Given the description of an element on the screen output the (x, y) to click on. 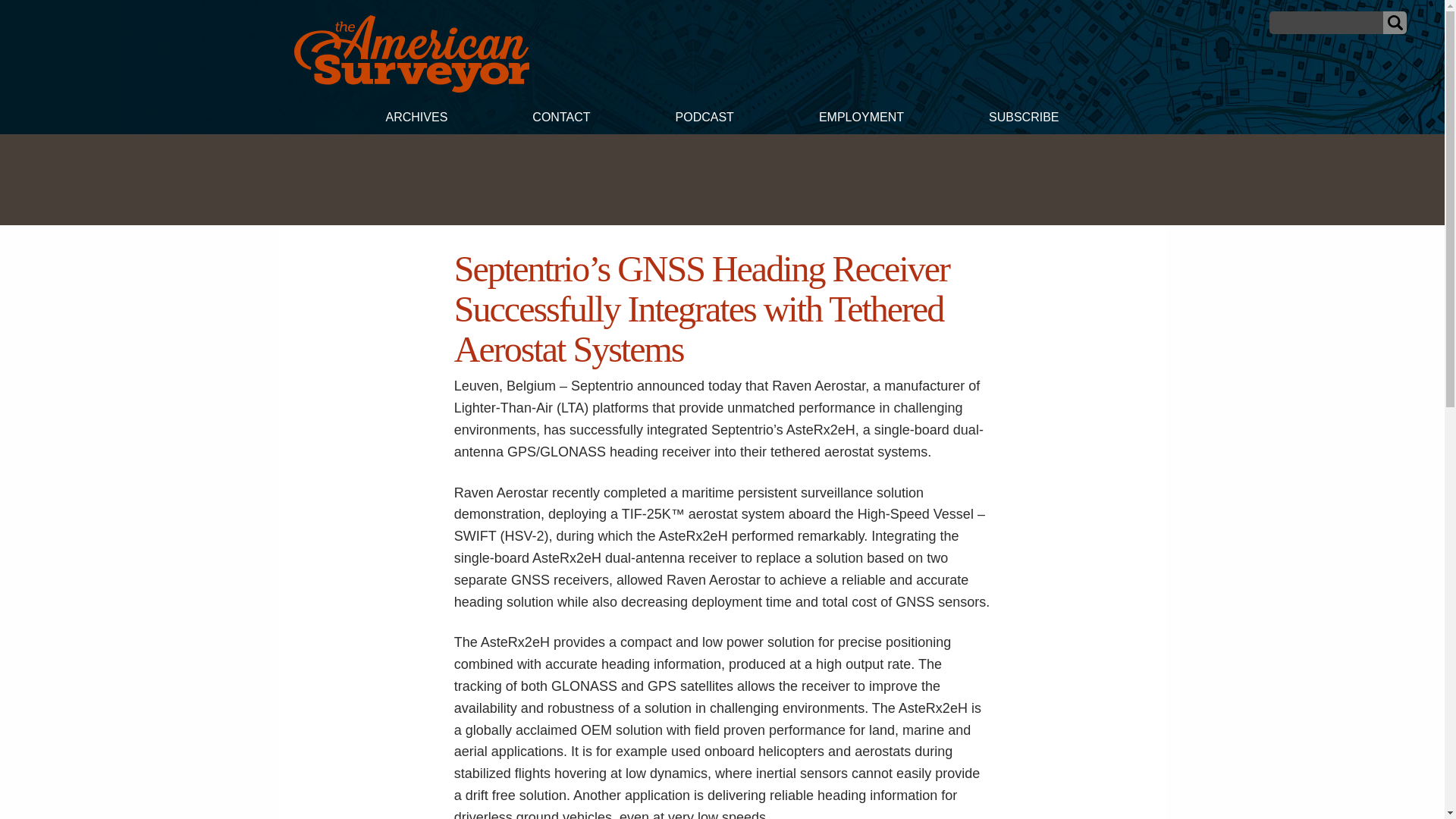
Submit (1394, 22)
EMPLOYMENT (861, 119)
3rd party ad content (721, 179)
The American Surveyor (411, 53)
CONTACT (560, 119)
Search for: (1326, 22)
PODCAST (704, 119)
The American Surveyor (411, 88)
Submit (1394, 22)
Submit (1394, 22)
SUBSCRIBE (1024, 119)
ARCHIVES (415, 119)
